Given the description of an element on the screen output the (x, y) to click on. 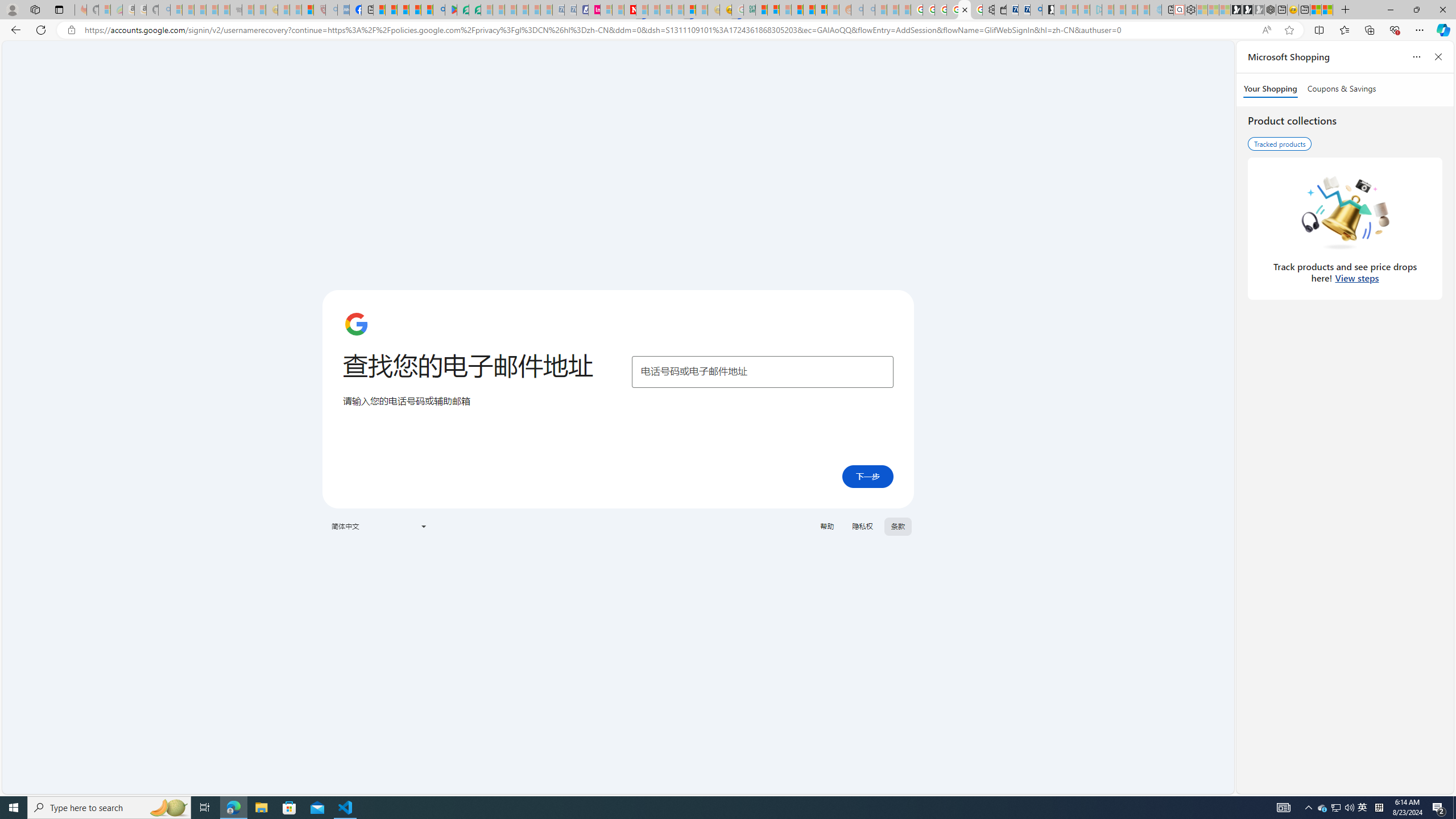
Wallet (1000, 9)
The Weather Channel - MSN - Sleeping (200, 9)
Microsoft Start - Sleeping (1131, 9)
Home | Sky Blue Bikes - Sky Blue Bikes - Sleeping (1155, 9)
Expert Portfolios (797, 9)
